Given the description of an element on the screen output the (x, y) to click on. 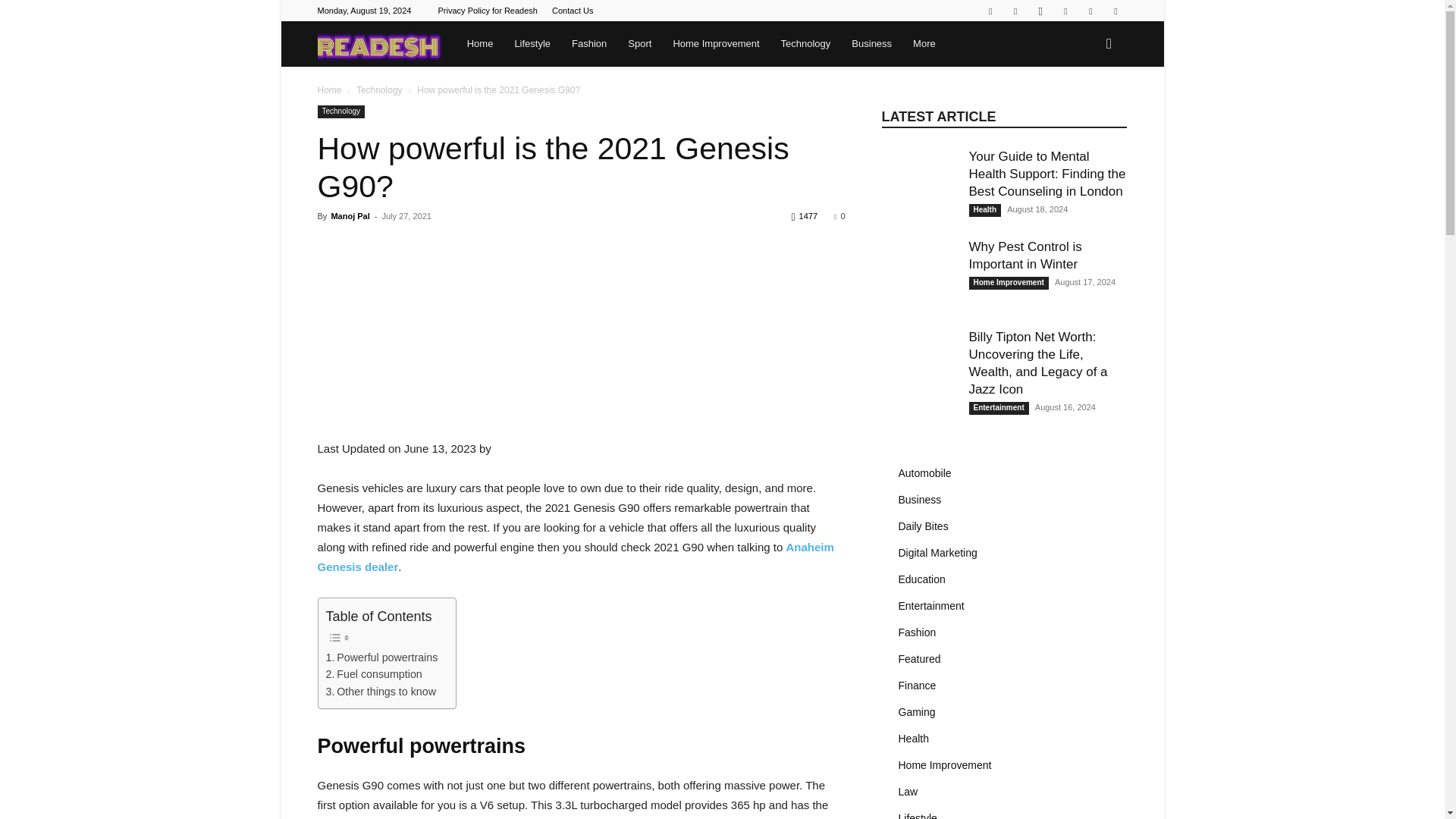
Contact Us (571, 10)
Instagram (1040, 10)
Privacy Policy for Readesh (487, 10)
Vimeo (1090, 10)
Facebook (1015, 10)
VKontakte (1114, 10)
Twitter (1065, 10)
Readish Logo (379, 44)
Behance (989, 10)
